Given the description of an element on the screen output the (x, y) to click on. 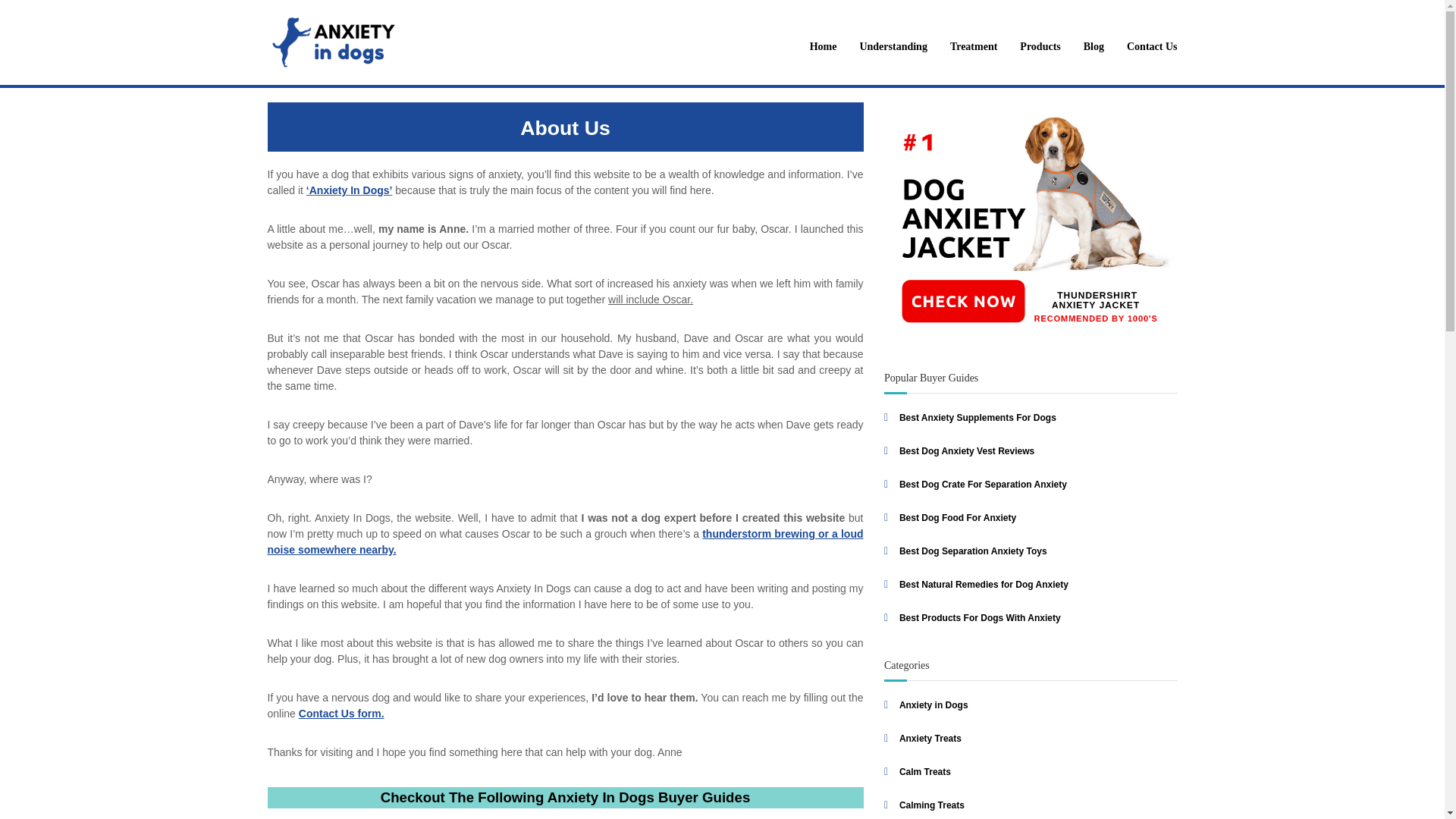
Best Dog Anxiety Vest Reviews (966, 450)
Best Dog Separation Anxiety Toys (972, 551)
Anxiety In Dogs CTA Advert - ThunderShirt Anxiety Jacket (1030, 225)
Best Natural Remedies for Dog Anxiety (983, 584)
Products (1039, 46)
thunderstorm brewing or a loud noise somewhere nearby. (564, 541)
Anxiety In Dogs (303, 35)
Contact Us (1151, 46)
Anxiety Treats (929, 738)
Best Anxiety Supplements For Dogs (978, 417)
Home (823, 46)
Anxiety in Dogs (933, 705)
Best Products For Dogs With Anxiety (980, 617)
Calm Treats (924, 771)
Blog (1093, 46)
